Given the description of an element on the screen output the (x, y) to click on. 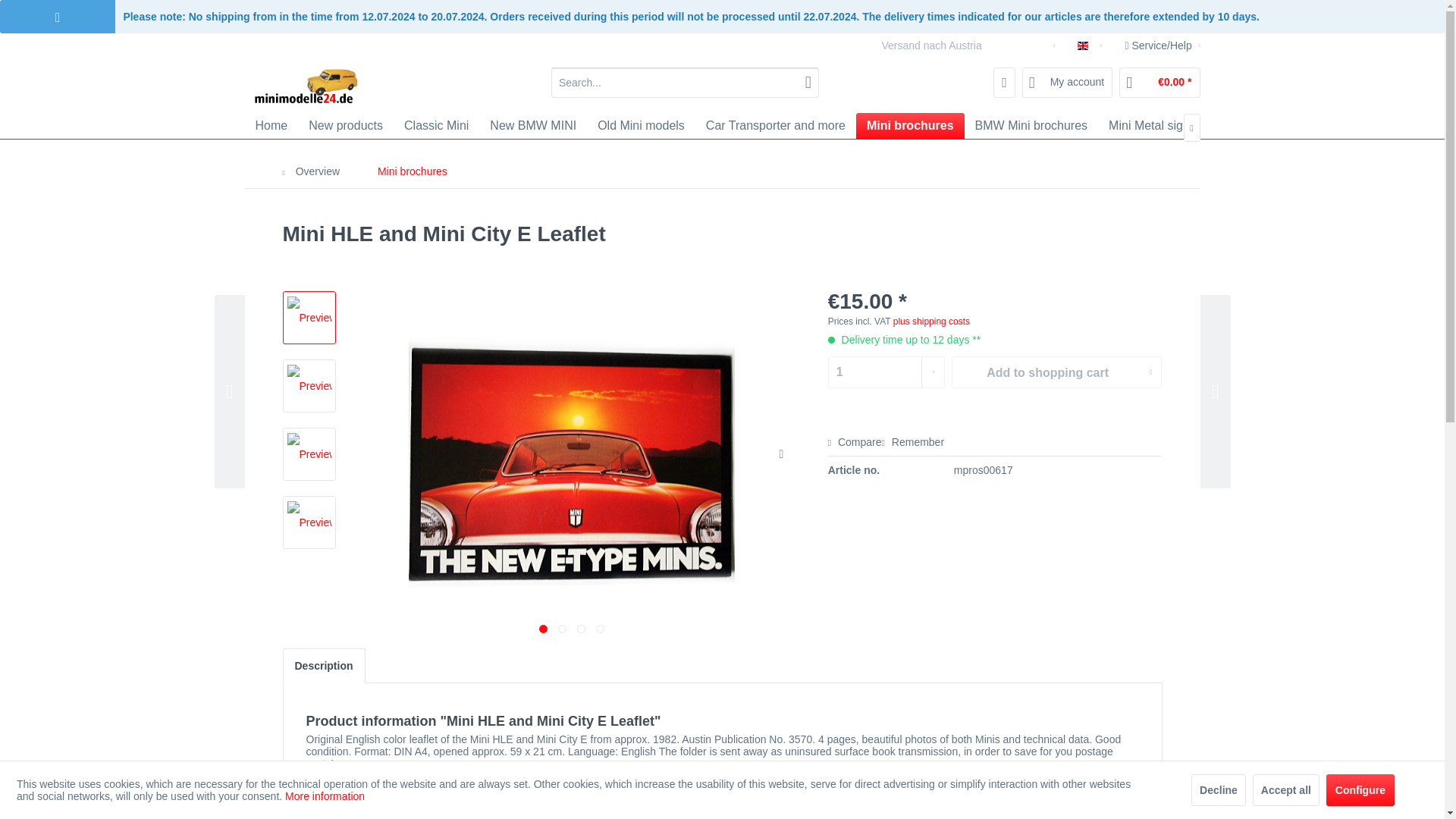
Classic Mini (436, 125)
Car Transporter and more (775, 125)
My account (1067, 82)
Classic Mini (436, 125)
BMW Mini brochures (1030, 125)
minimodelle24.de - Switch to homepage (306, 86)
New products (345, 125)
Old Mini models (640, 125)
New BMW MINI (532, 125)
My account (1067, 82)
Home (271, 125)
Mini brochures (909, 125)
Old Mini models (640, 125)
BMW Mini brochures (1030, 125)
Home (271, 125)
